Given the description of an element on the screen output the (x, y) to click on. 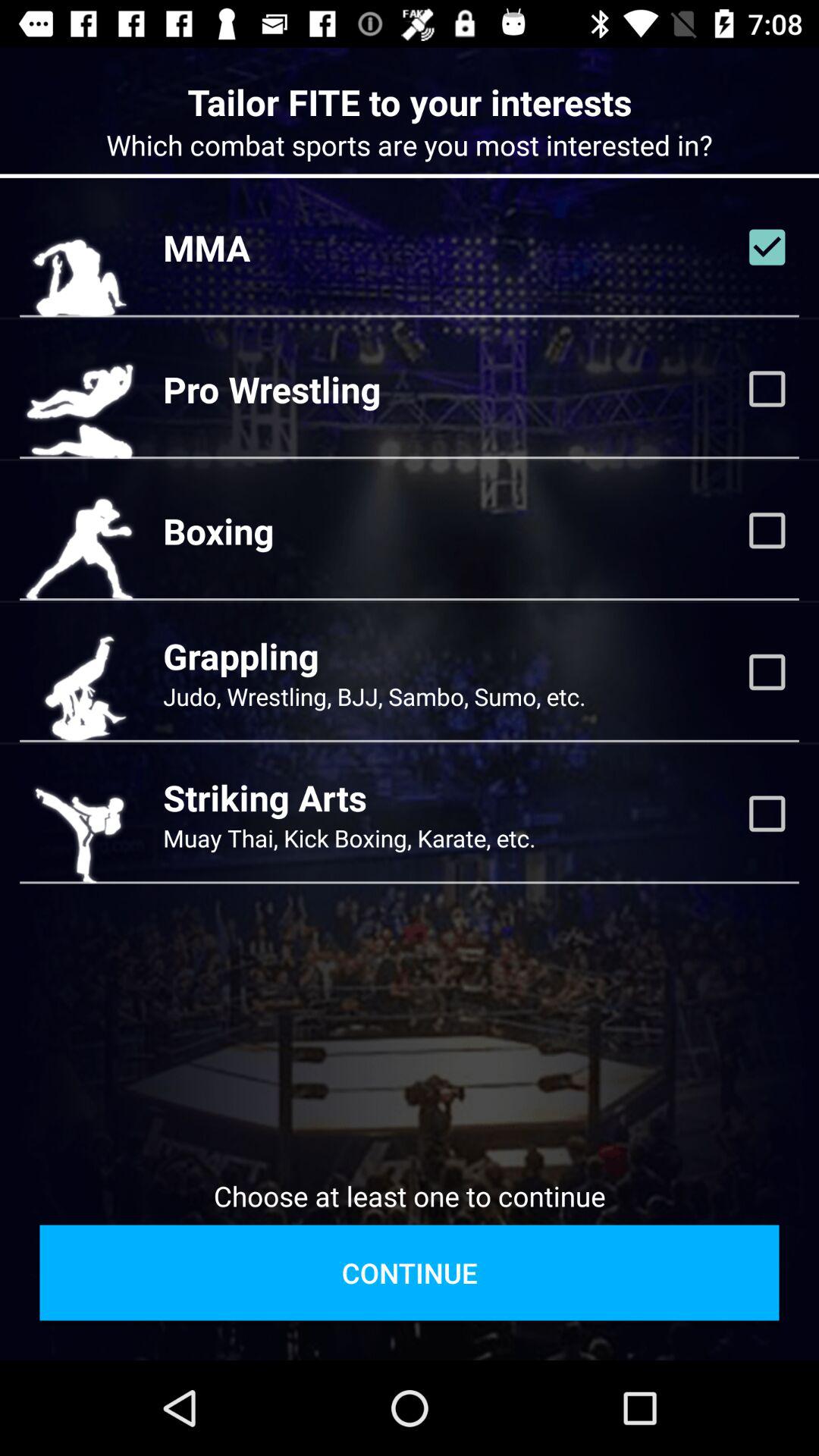
turn off the icon above the judo wrestling bjj icon (241, 655)
